Given the description of an element on the screen output the (x, y) to click on. 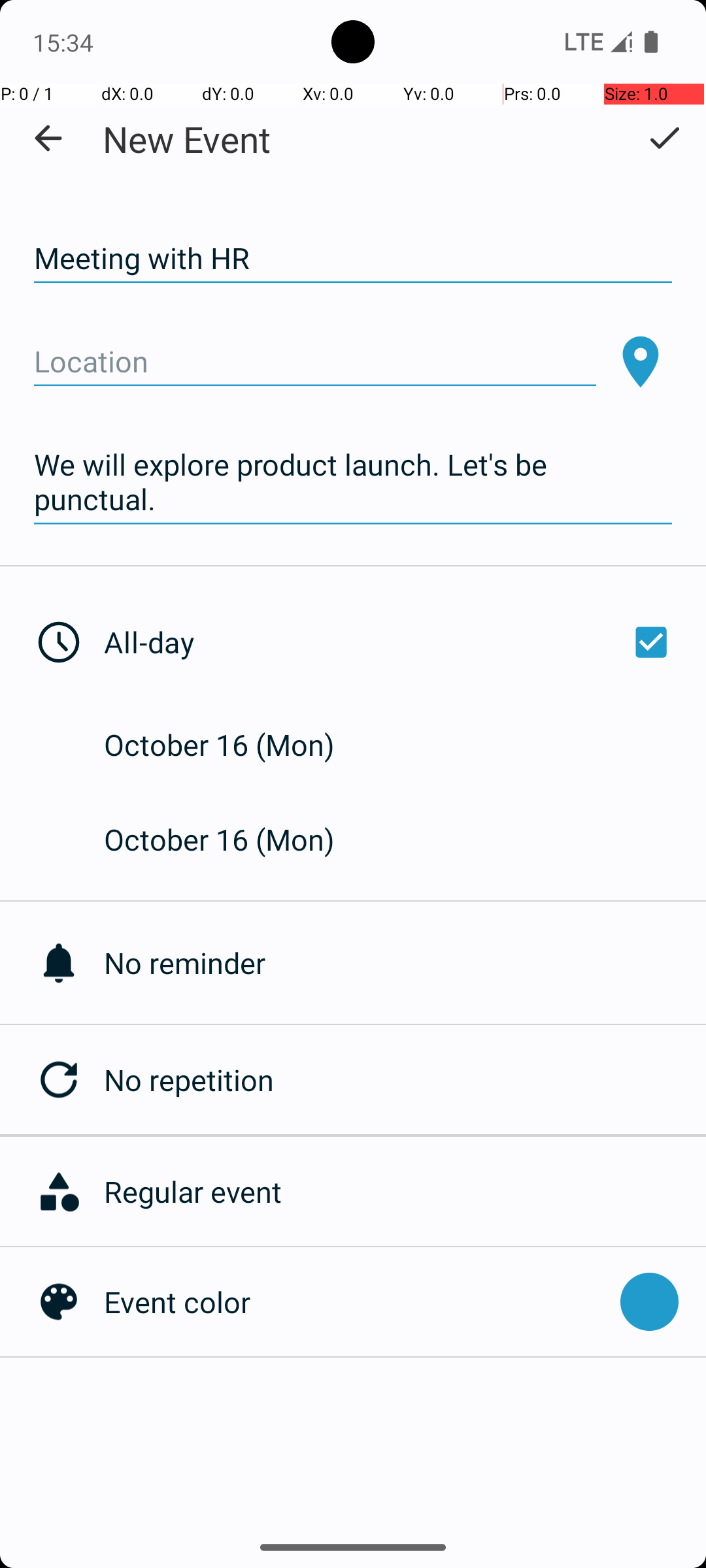
Meeting with HR Element type: android.widget.EditText (352, 258)
Location Element type: android.widget.EditText (314, 361)
We will explore product launch. Let's be punctual. Element type: android.widget.EditText (352, 482)
October 16 (Mon) Element type: android.widget.TextView (232, 744)
No reminder Element type: android.widget.TextView (404, 962)
No repetition Element type: android.widget.TextView (404, 1079)
All-day Element type: android.widget.CheckBox (390, 642)
Event color Element type: android.widget.TextView (354, 1301)
